Given the description of an element on the screen output the (x, y) to click on. 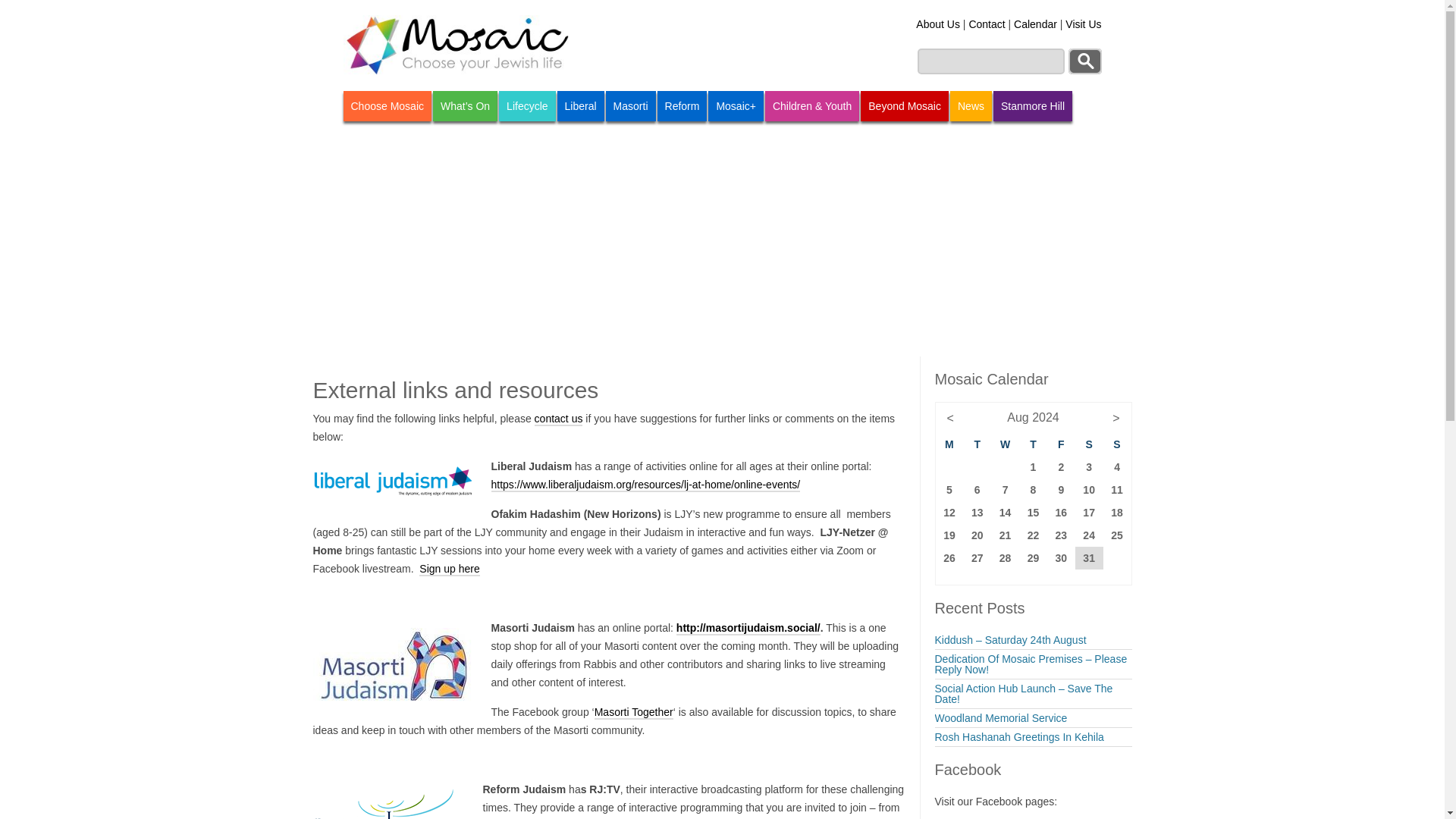
Choose Mosaic (386, 105)
Visit Us (1082, 24)
Contact (986, 24)
Lifecycle (526, 105)
About Us (937, 24)
Calendar (1035, 24)
